Given the description of an element on the screen output the (x, y) to click on. 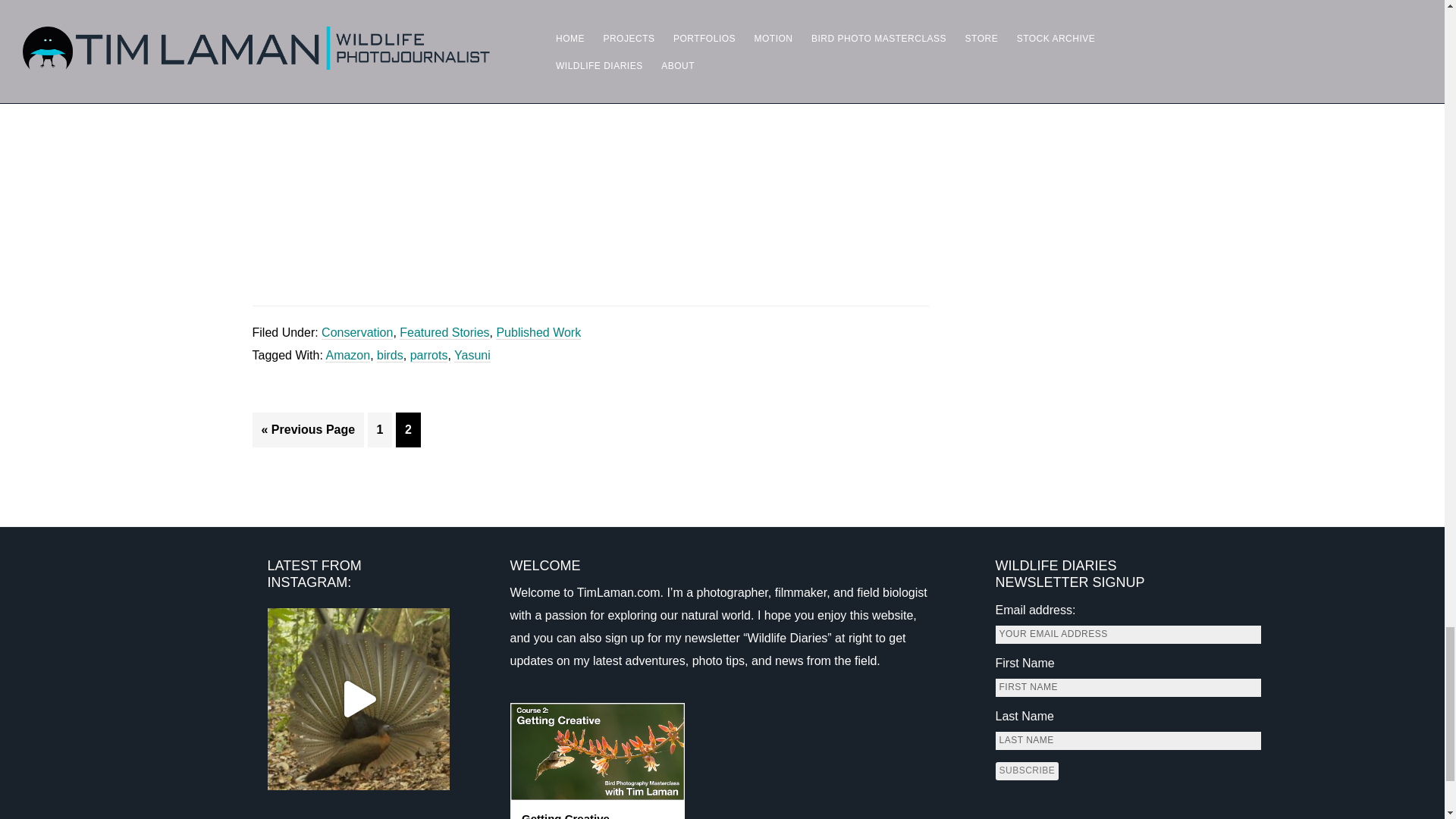
Subscribe (1026, 771)
